Given the description of an element on the screen output the (x, y) to click on. 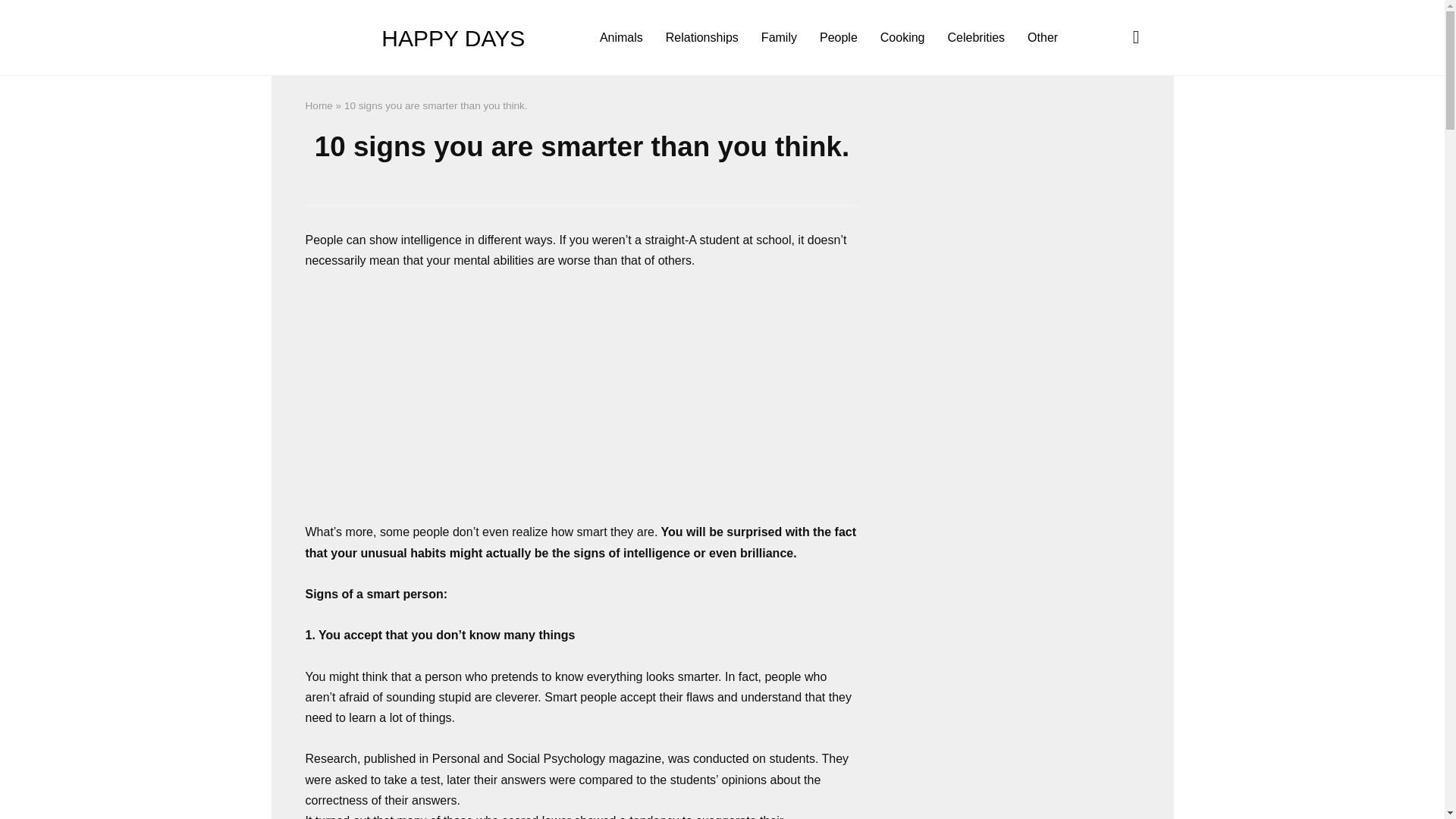
Animals (620, 37)
Relationships (701, 37)
Family (778, 37)
Cooking (902, 37)
HAPPY DAYS (452, 37)
Other (1042, 37)
Home (317, 105)
Celebrities (976, 37)
People (838, 37)
